Given the description of an element on the screen output the (x, y) to click on. 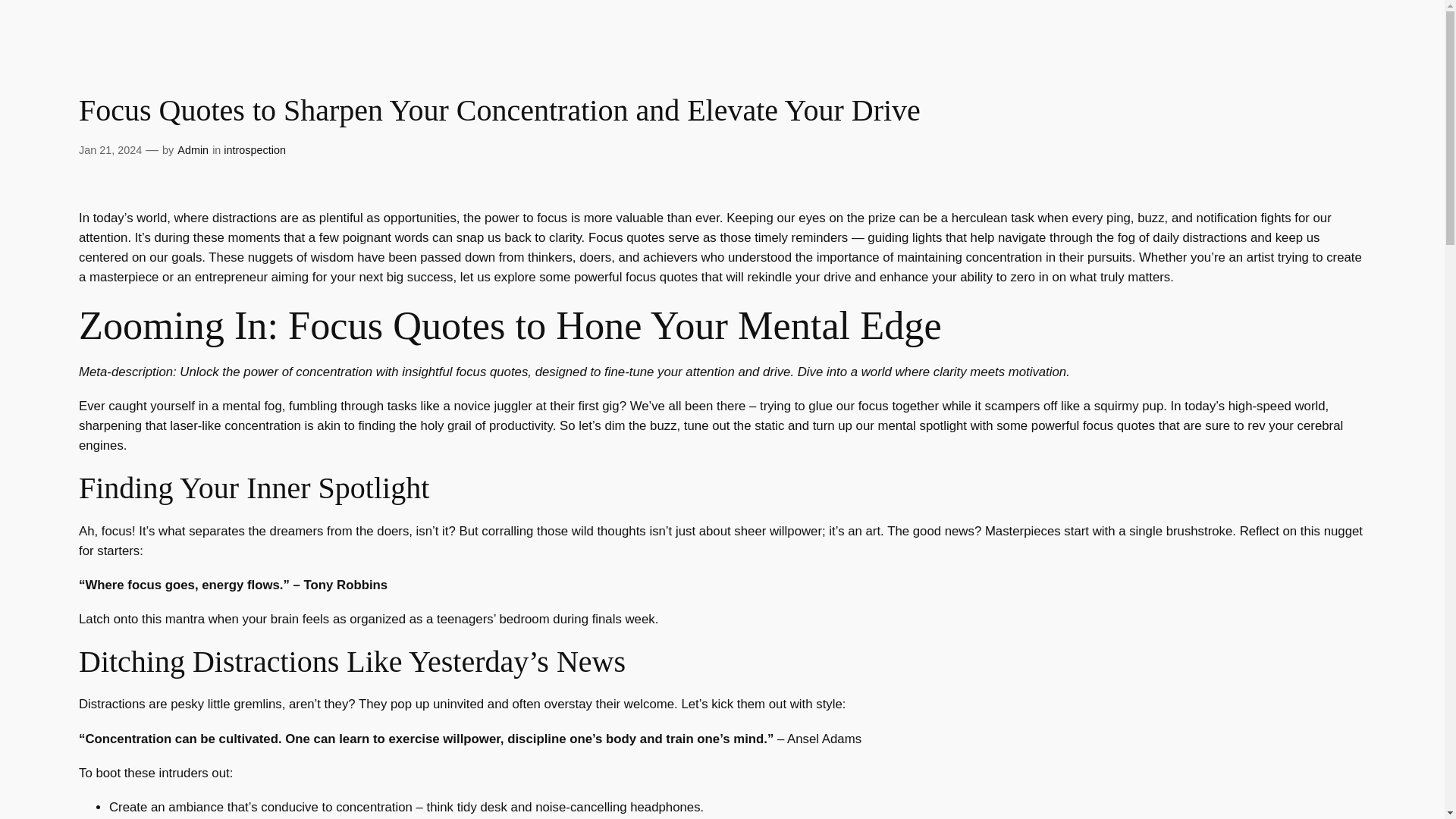
Jan 21, 2024 (109, 150)
Admin (192, 150)
introspection (254, 150)
